Given the description of an element on the screen output the (x, y) to click on. 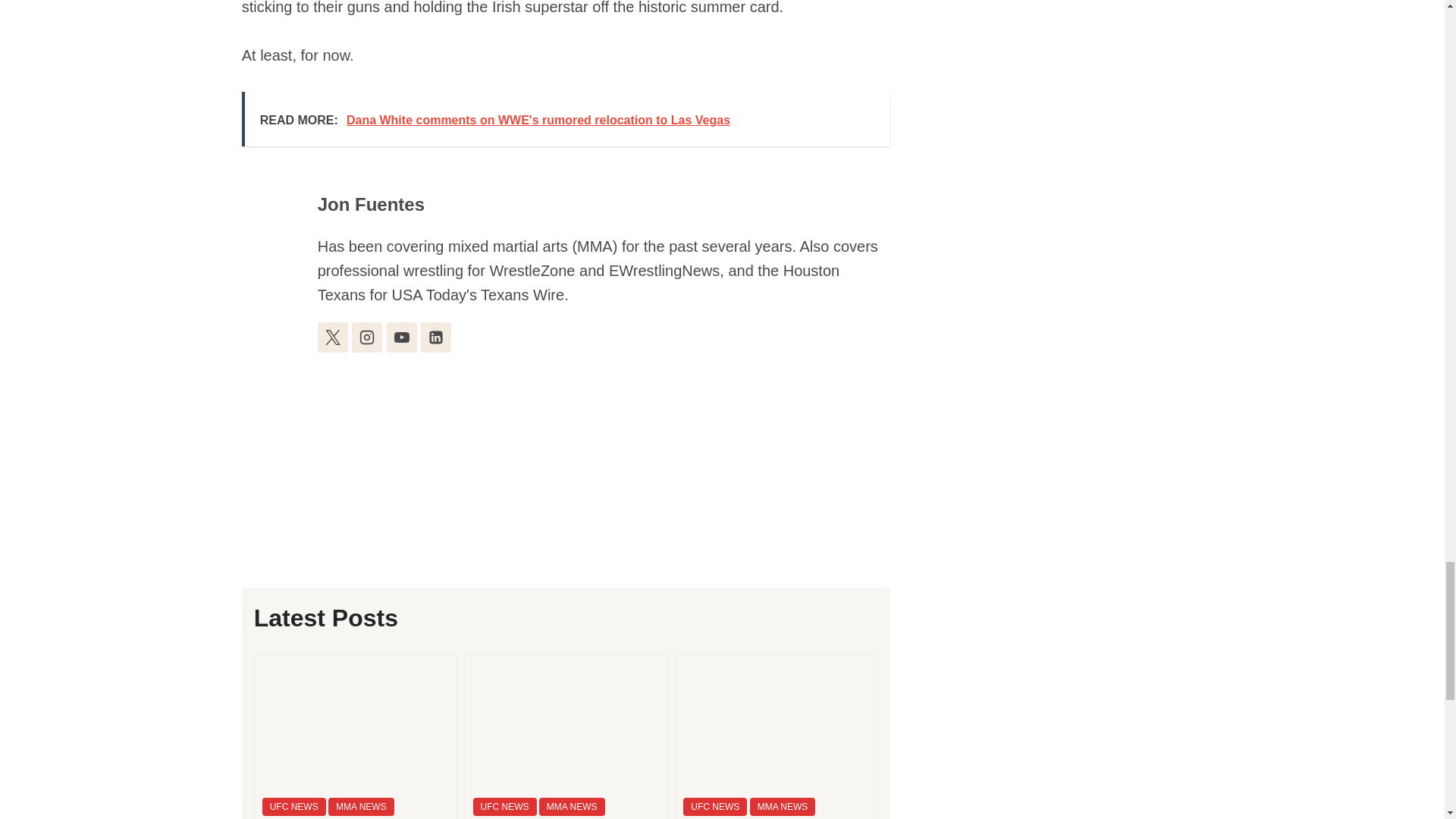
Follow Jon Fuentes on Youtube (401, 337)
Follow Jon Fuentes on Instagram (366, 337)
Follow Jon Fuentes on X formerly Twitter (332, 337)
Posts by Jon Fuentes (371, 204)
Follow Jon Fuentes on Linkedin (435, 337)
